Given the description of an element on the screen output the (x, y) to click on. 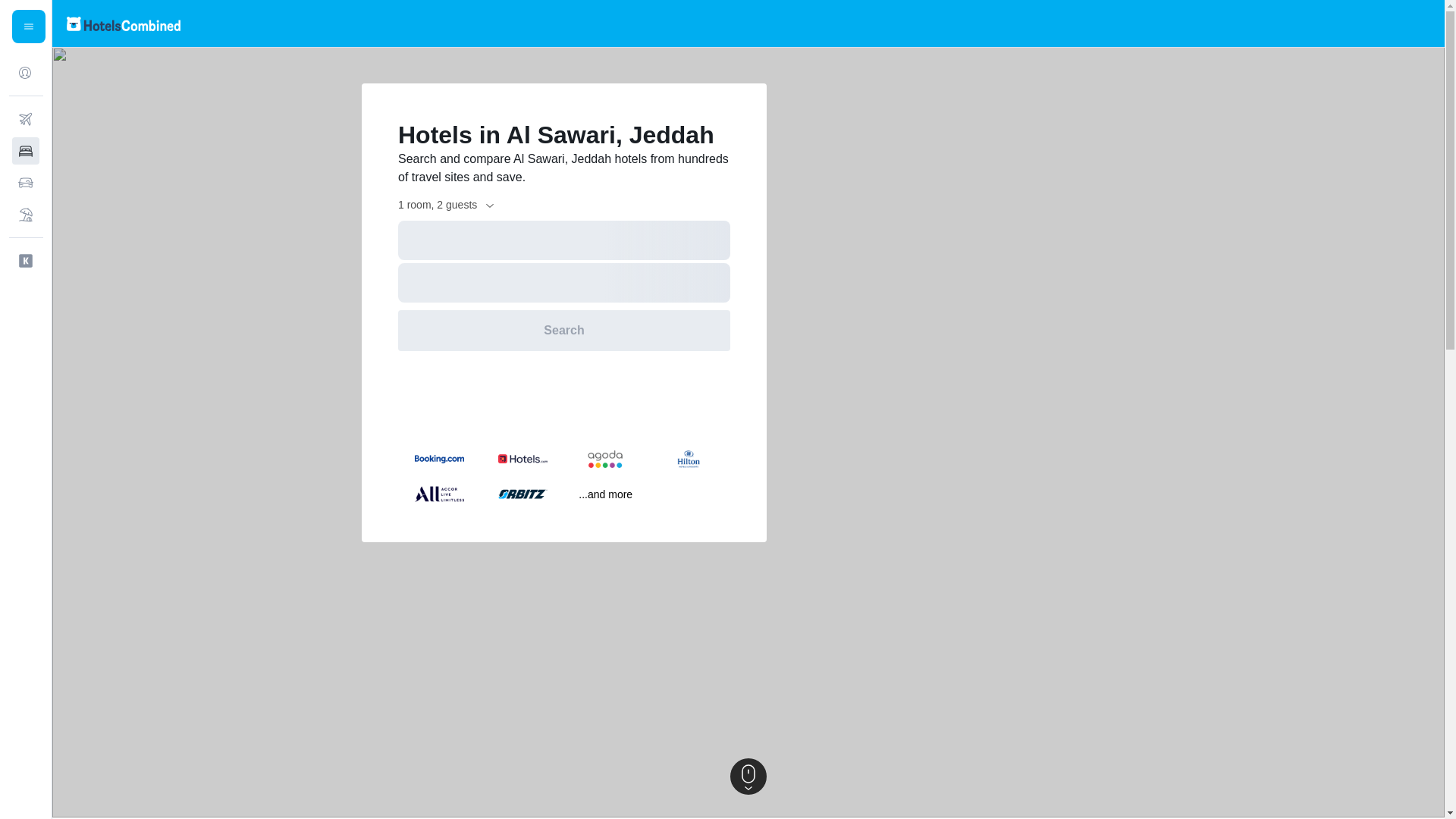
Search (563, 330)
1 room, 2 guests (446, 205)
Search (563, 330)
